Given the description of an element on the screen output the (x, y) to click on. 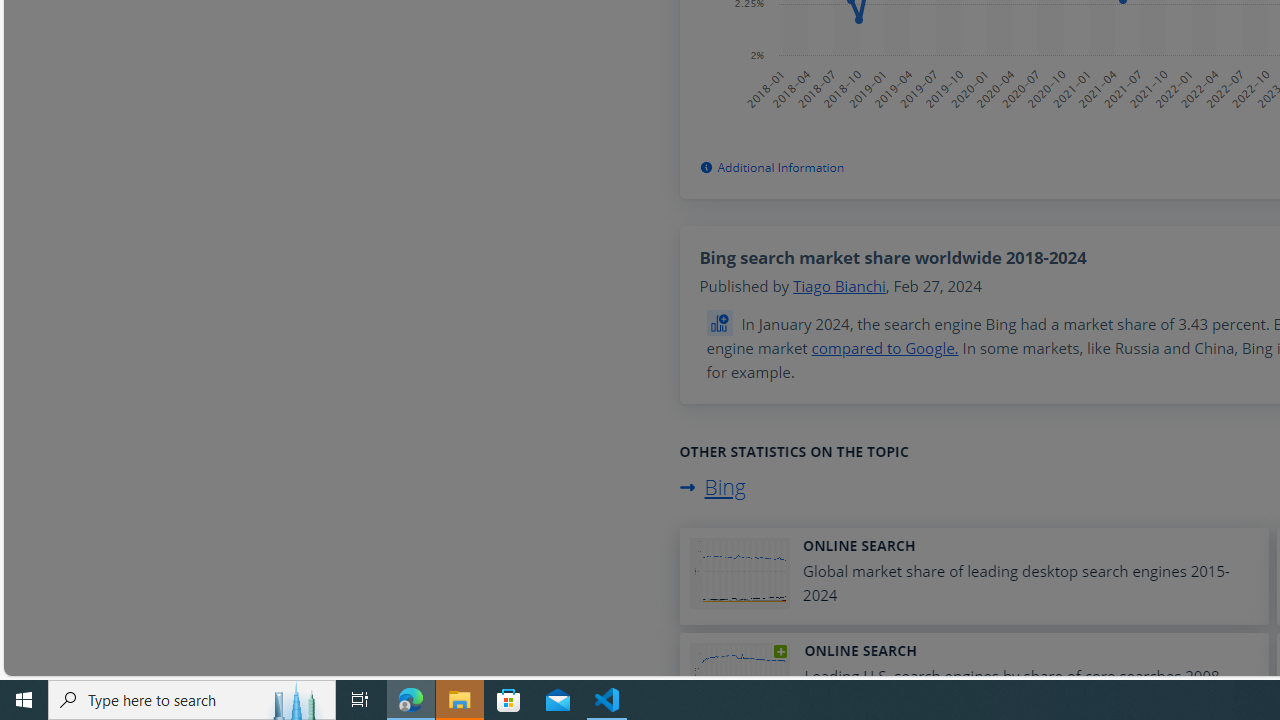
Link to Statistic (722, 323)
compared to Google. (884, 348)
Tiago Bianchi (839, 286)
Bing (712, 486)
Additional Information (771, 168)
